Given the description of an element on the screen output the (x, y) to click on. 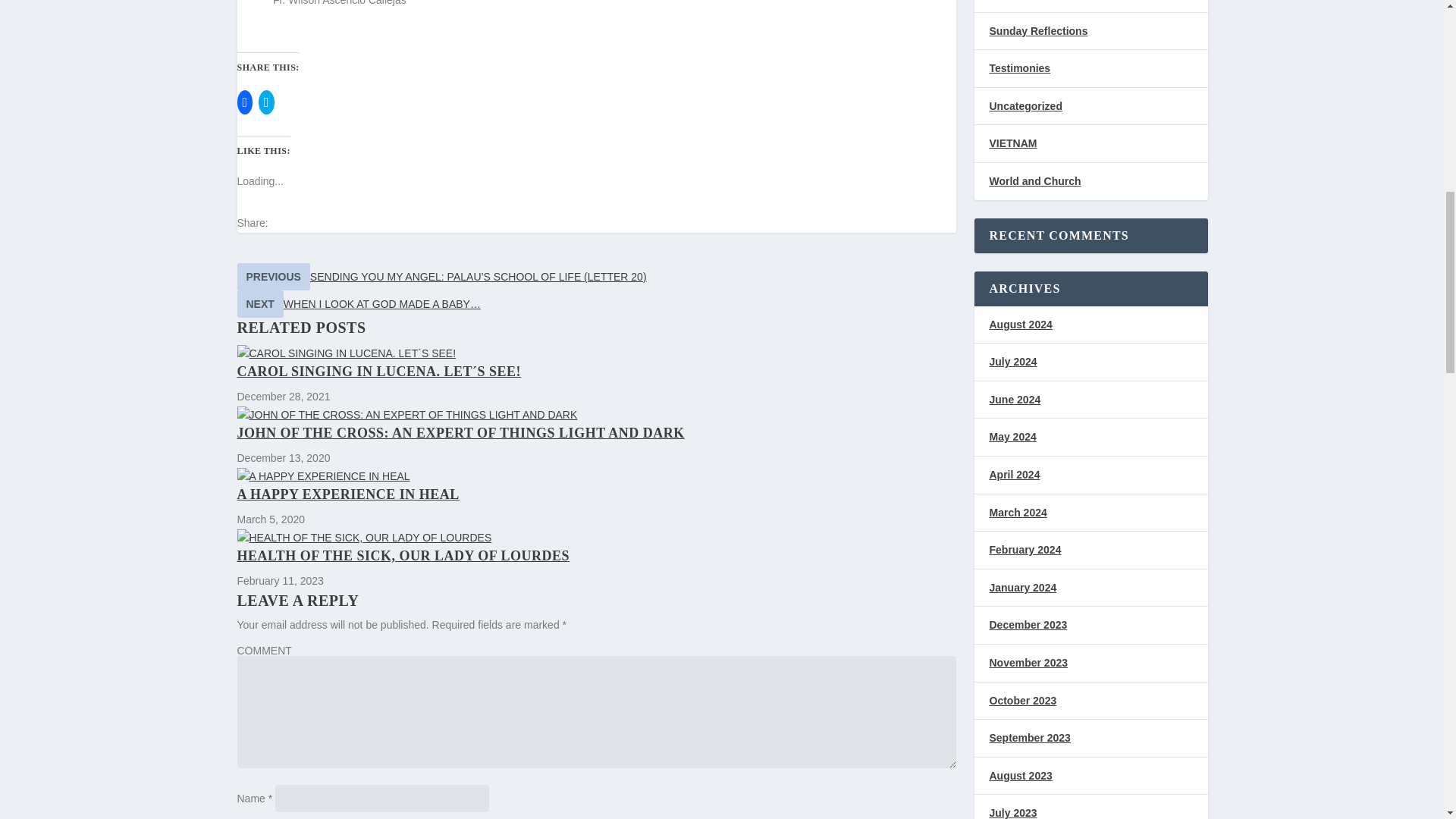
HEALTH OF THE SICK, OUR LADY OF LOURDES (595, 538)
JOHN OF THE CROSS: AN EXPERT OF THINGS LIGHT AND DARK (459, 432)
A HAPPY EXPERIENCE IN HEAL (346, 494)
HEALTH OF THE SICK, OUR LADY OF LOURDES (402, 554)
A HAPPY EXPERIENCE IN HEAL (595, 476)
JOHN OF THE CROSS: AN EXPERT OF THINGS LIGHT AND DARK (595, 415)
